Given the description of an element on the screen output the (x, y) to click on. 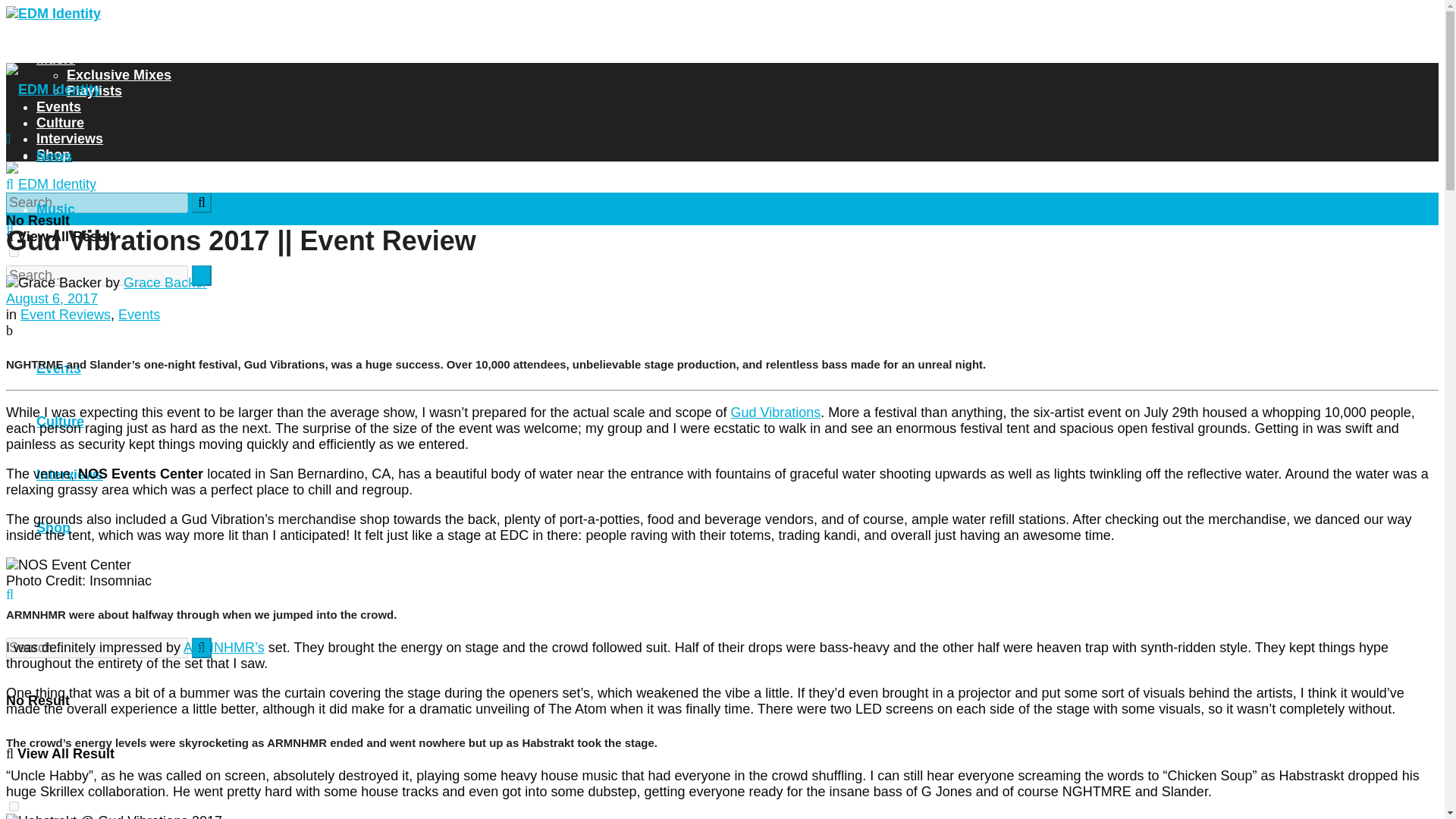
Exclusive Mixes (118, 262)
Playlists (94, 314)
Events (58, 106)
Culture (60, 421)
Grace Backer (164, 282)
on (13, 806)
News (53, 155)
Interviews (69, 138)
Culture (60, 122)
Shop (52, 154)
on (13, 252)
August 6, 2017 (51, 298)
Shop (52, 527)
Playlists (94, 90)
Events (138, 314)
